Given the description of an element on the screen output the (x, y) to click on. 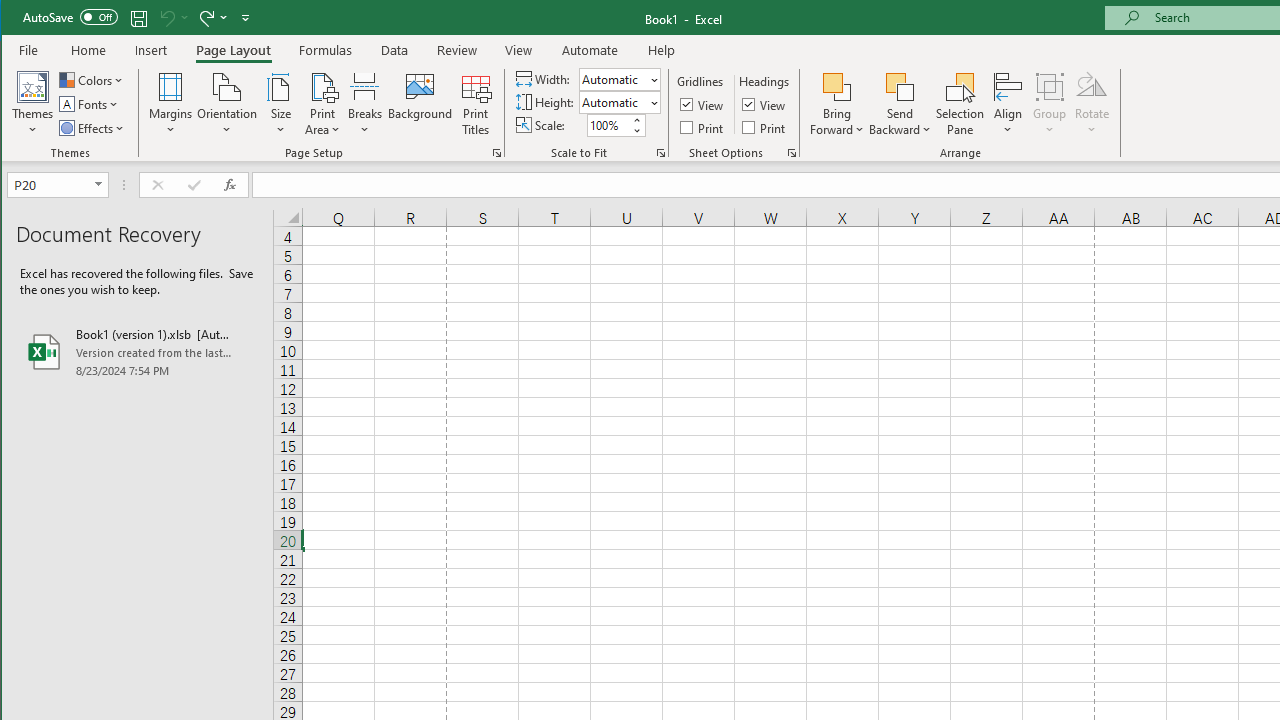
Data (395, 50)
Height (612, 102)
Selection Pane... (960, 104)
AutoSave (70, 16)
Height (619, 101)
Formulas (326, 50)
View (765, 103)
More (636, 120)
Print Area (323, 104)
Quick Access Toolbar (137, 17)
Save (139, 17)
